Given the description of an element on the screen output the (x, y) to click on. 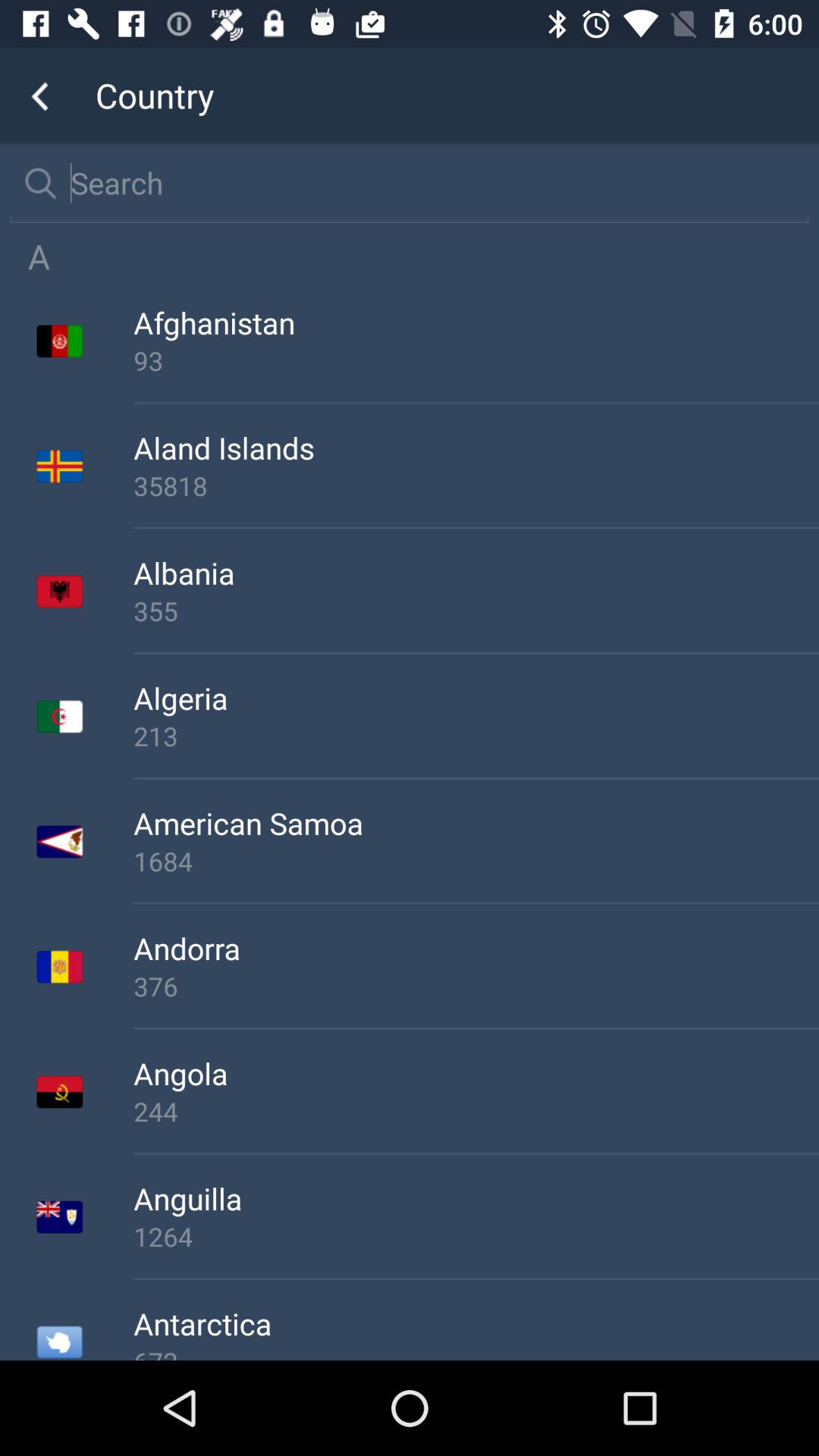
jump until 1264 item (476, 1236)
